Given the description of an element on the screen output the (x, y) to click on. 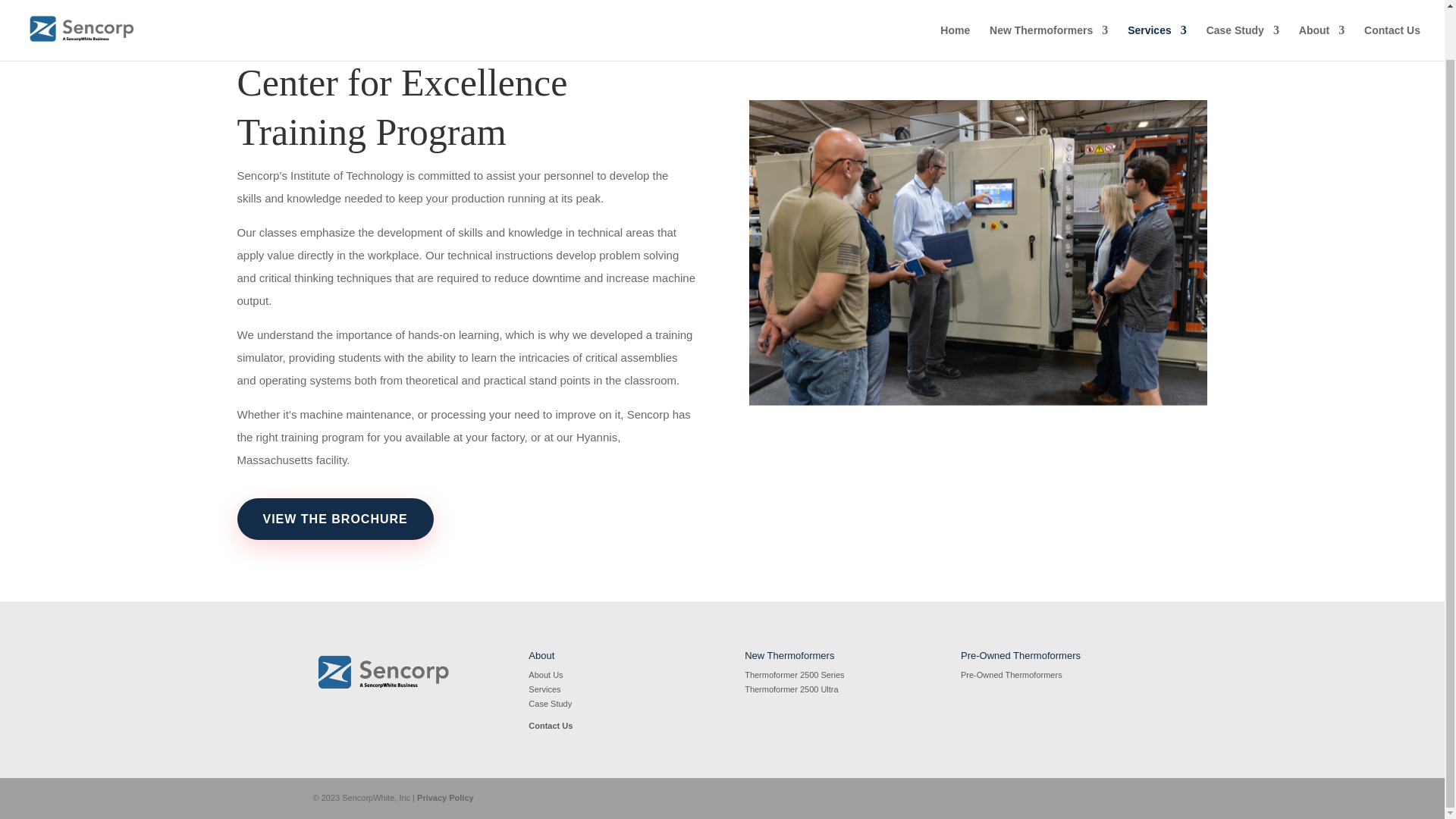
New Thermoformers (1049, 3)
Thermoformer 2500 Ultra (791, 688)
Home (954, 3)
Services (1156, 3)
Services (544, 688)
About Us (545, 674)
Privacy Policy (445, 797)
Case Study (1243, 3)
Thermoformer 2500 Series (794, 674)
Pre-Owned Thermoformers (1011, 674)
